Given the description of an element on the screen output the (x, y) to click on. 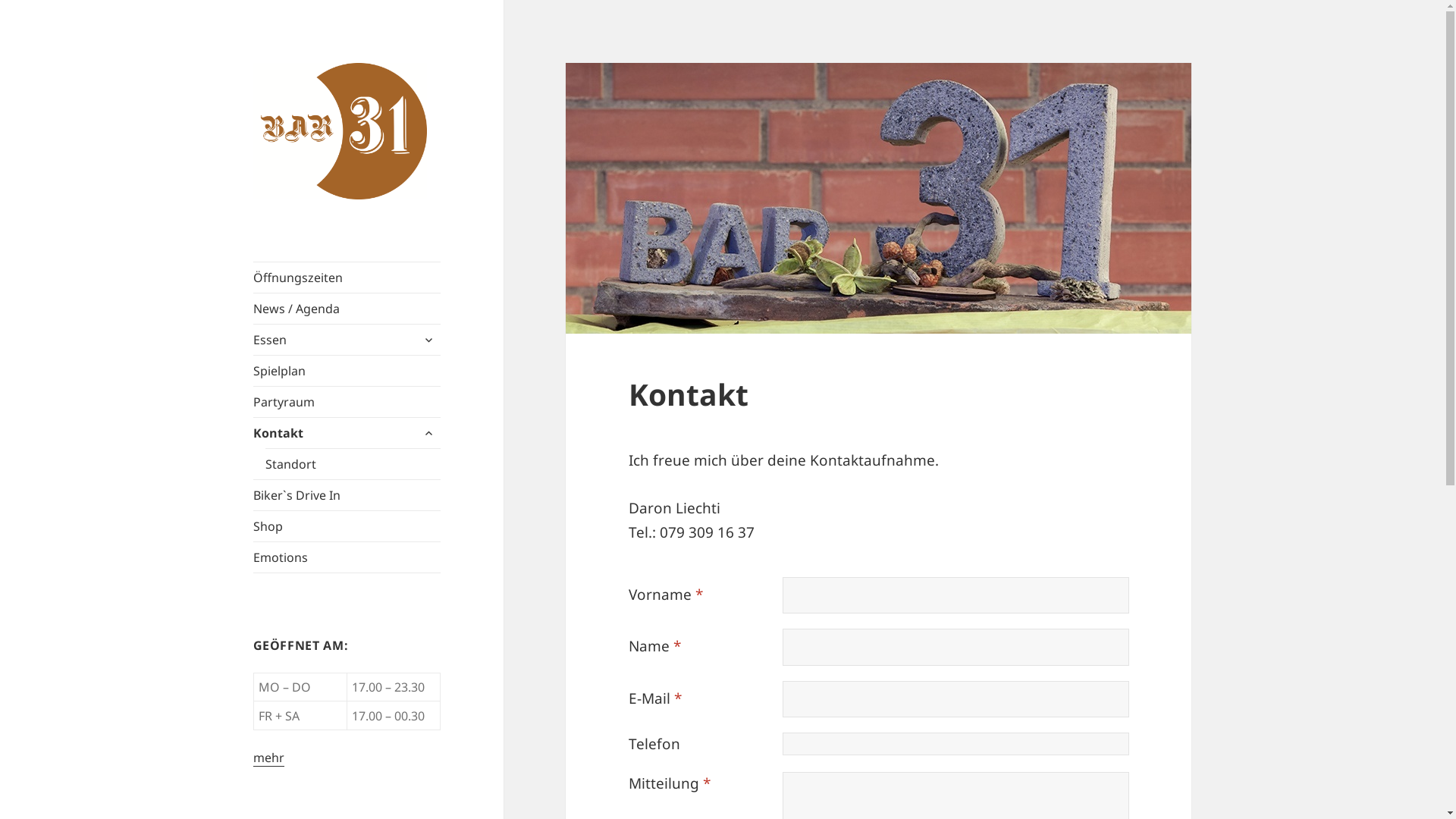
Spielplan Element type: text (347, 370)
BAR 31 Element type: text (347, 74)
Shop Element type: text (347, 526)
News / Agenda Element type: text (347, 308)
Essen Element type: text (347, 339)
Kontakt Element type: text (347, 432)
Biker`s Drive In Element type: text (347, 495)
Partyraum Element type: text (347, 401)
mehr Element type: text (268, 757)
Emotions Element type: text (347, 557)
Standort Element type: text (353, 463)
